Given the description of an element on the screen output the (x, y) to click on. 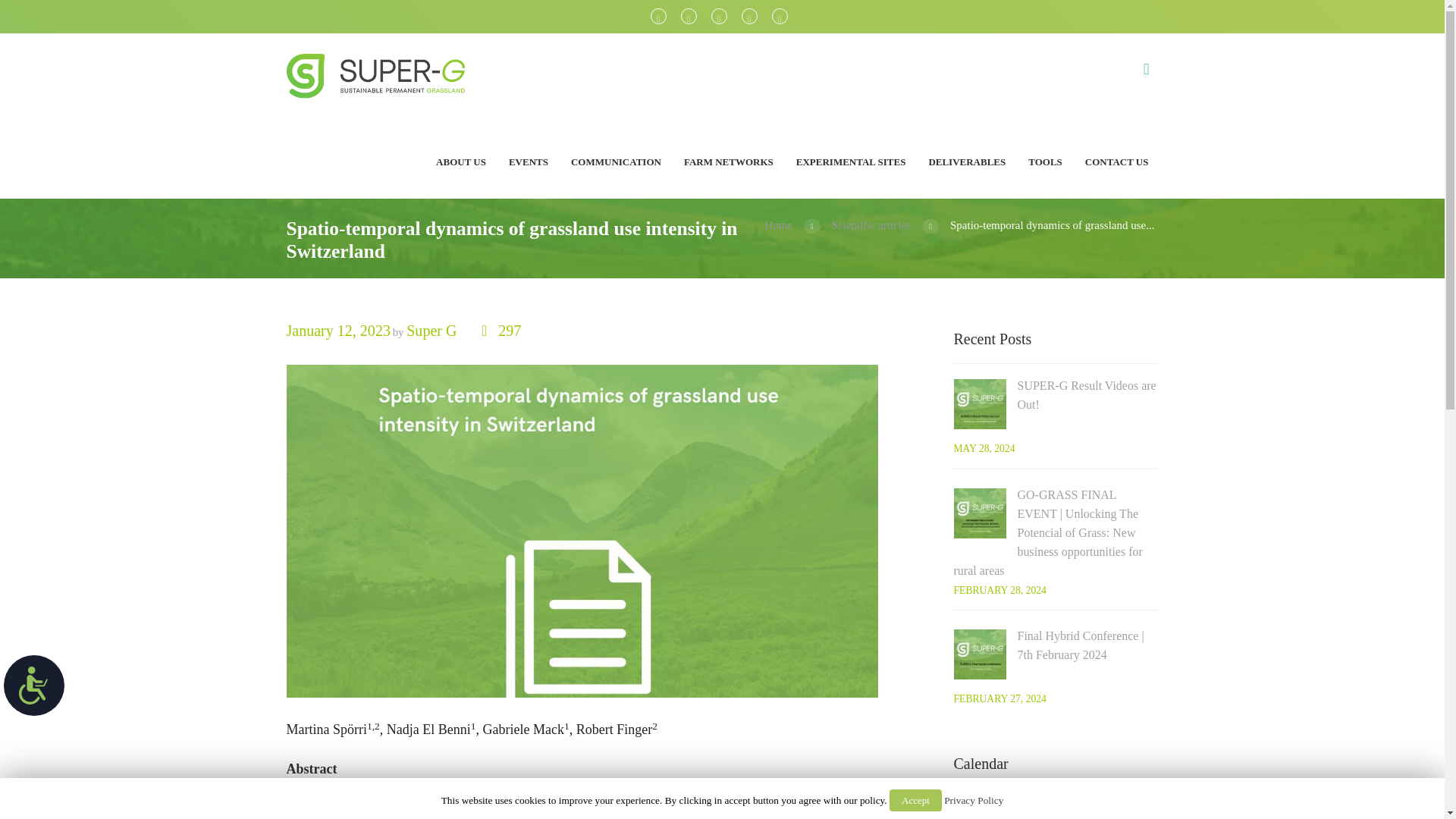
Views - 297 (501, 330)
DELIVERABLES (966, 160)
COMMUNICATION (615, 160)
TOOLS (1044, 160)
EVENTS (528, 160)
ABOUT US (461, 160)
FARM NETWORKS (728, 160)
EXPERIMENTAL SITES (850, 160)
Accessibility (34, 685)
